Given the description of an element on the screen output the (x, y) to click on. 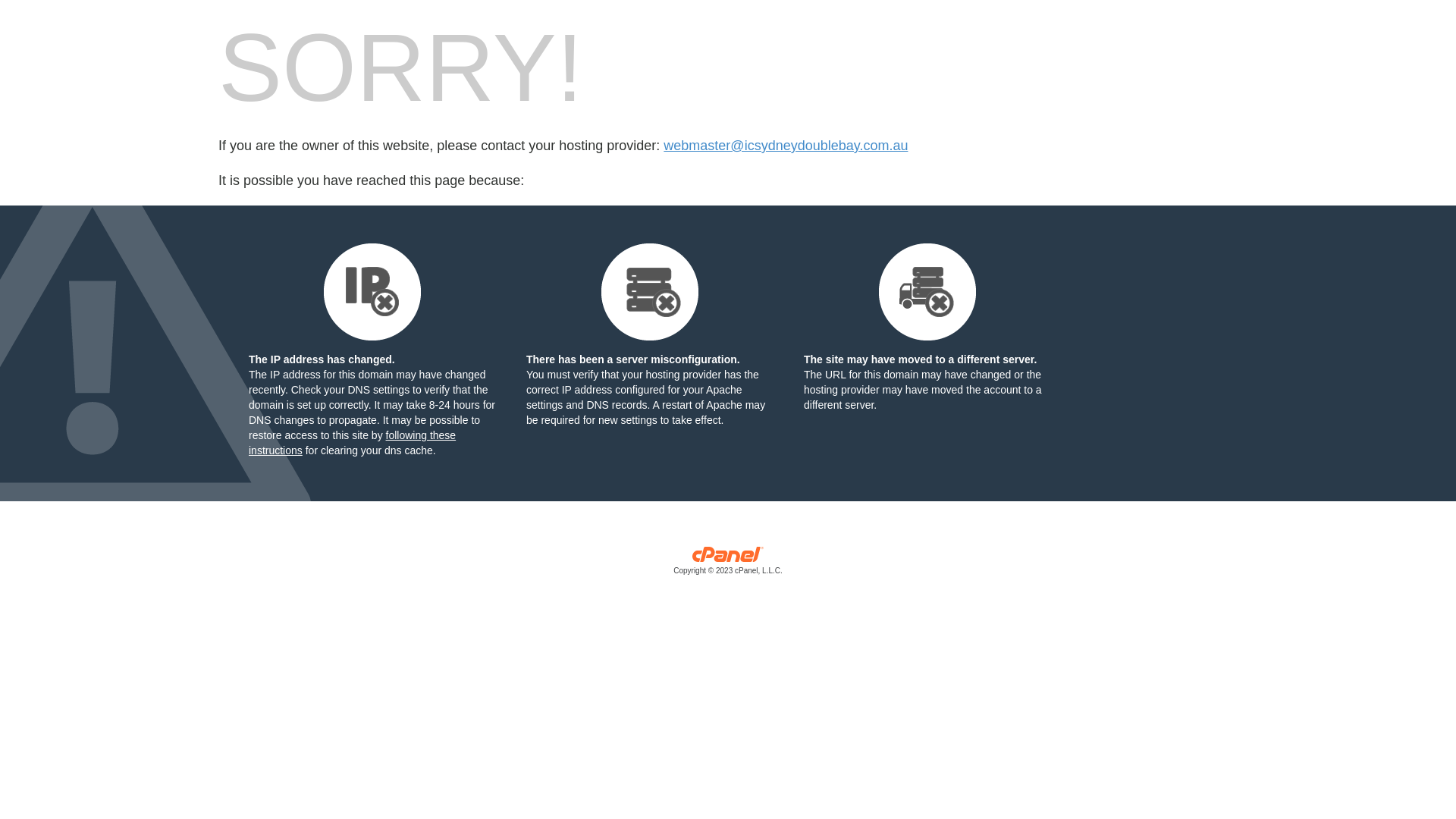
following these instructions Element type: text (351, 442)
webmaster@icsydneydoublebay.com.au Element type: text (785, 145)
